Given the description of an element on the screen output the (x, y) to click on. 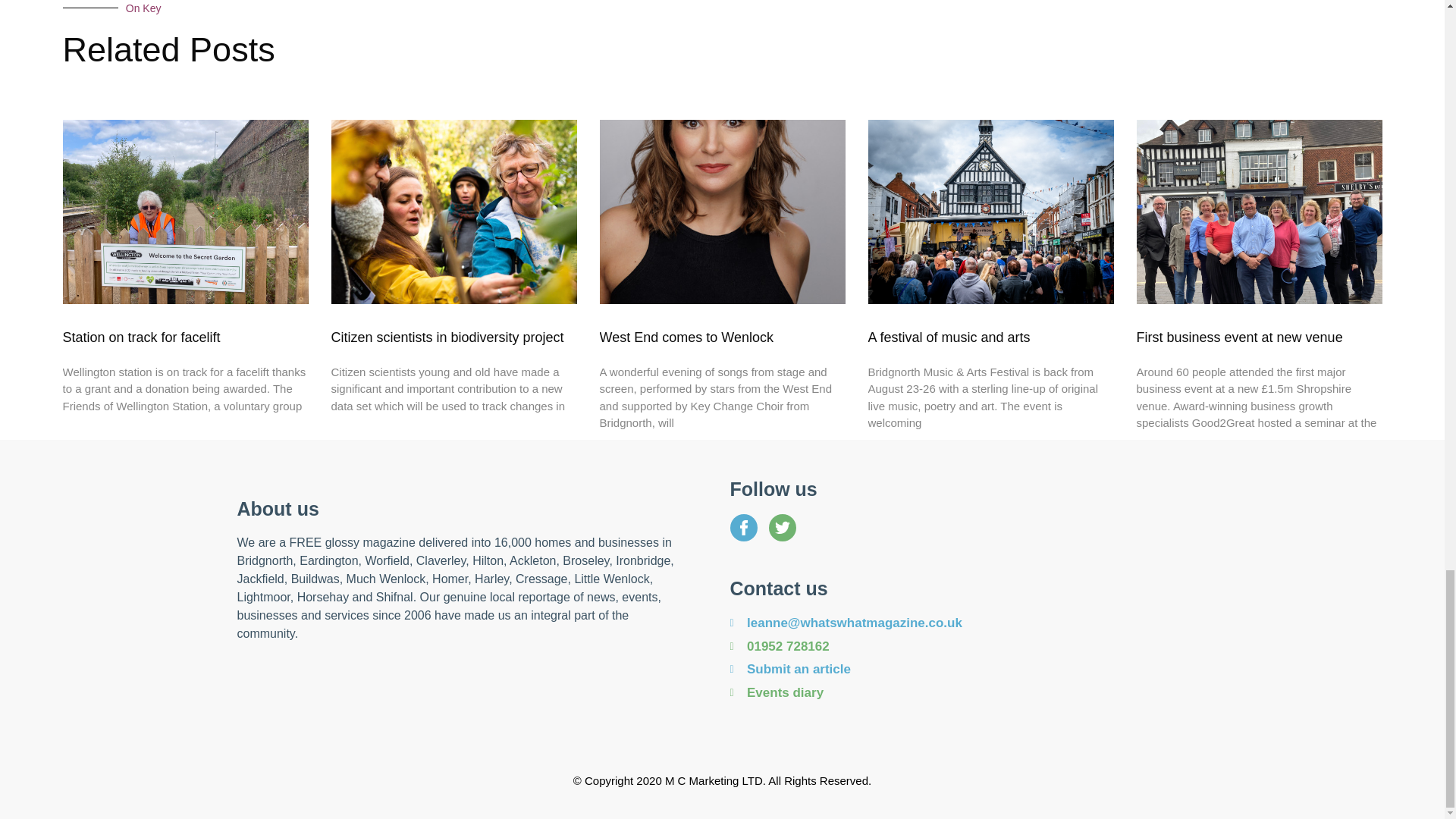
West End comes to Wenlock (685, 337)
A festival of music and arts (948, 337)
First business event at new venue (1238, 337)
Station on track for facelift (140, 337)
Citizen scientists in biodiversity project (446, 337)
